Given the description of an element on the screen output the (x, y) to click on. 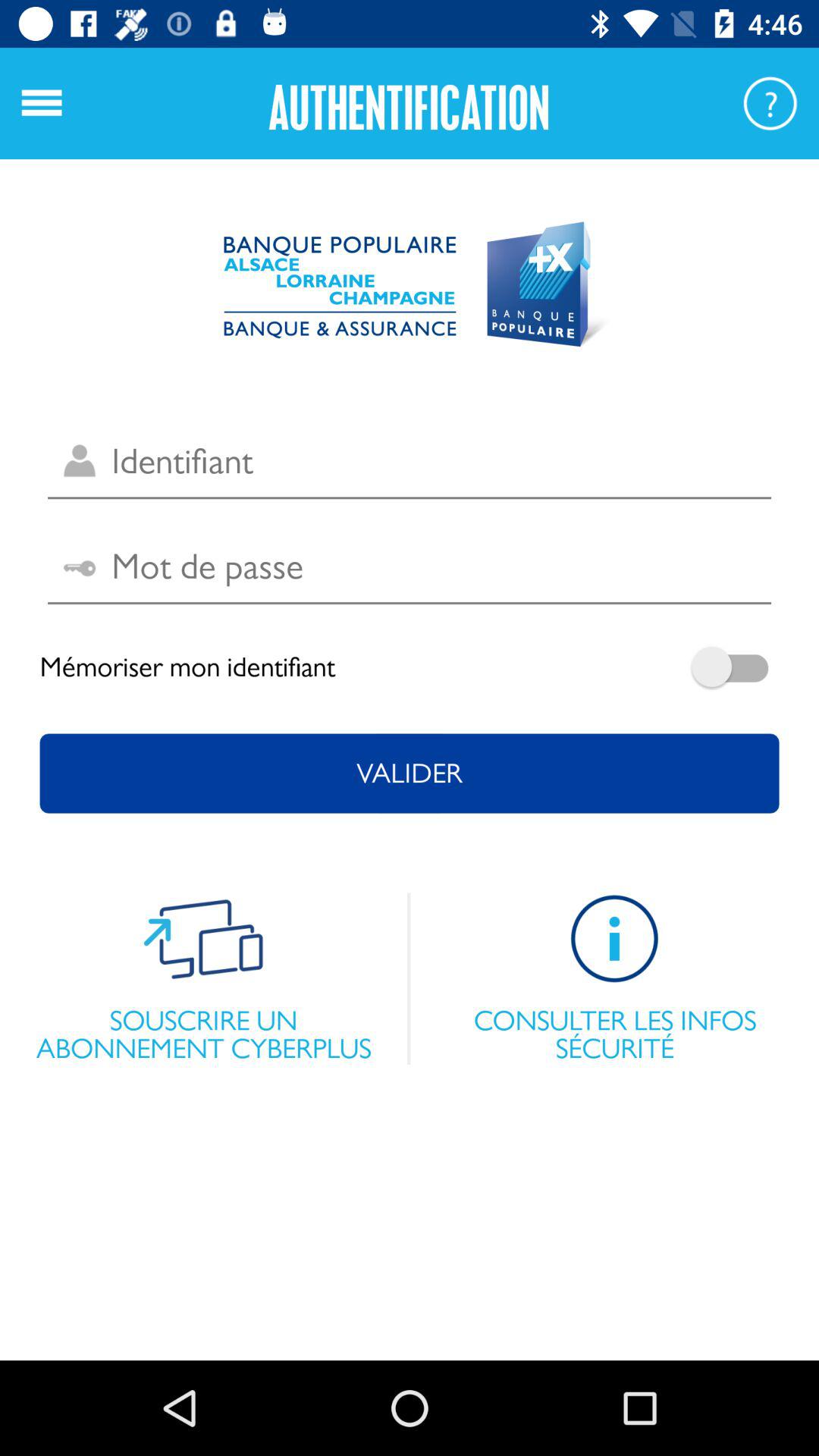
go to help page (770, 103)
